Given the description of an element on the screen output the (x, y) to click on. 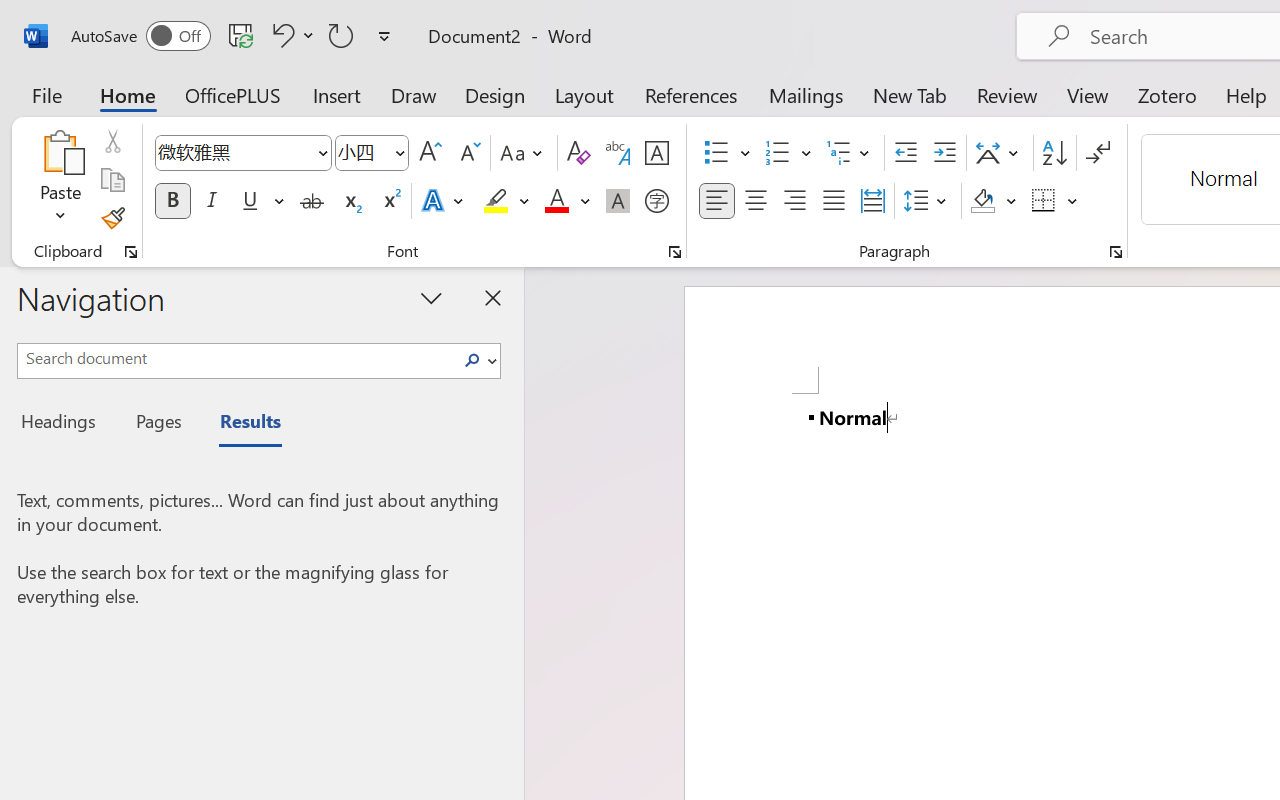
Font Size (362, 152)
Draw (413, 94)
Borders (1044, 201)
Superscript (390, 201)
Bullets (716, 153)
Phonetic Guide... (618, 153)
Task Pane Options (431, 297)
Mailings (806, 94)
Shrink Font (468, 153)
Character Border (656, 153)
Align Left (716, 201)
Underline (250, 201)
View (1087, 94)
Open (399, 152)
Format Painter (112, 218)
